Given the description of an element on the screen output the (x, y) to click on. 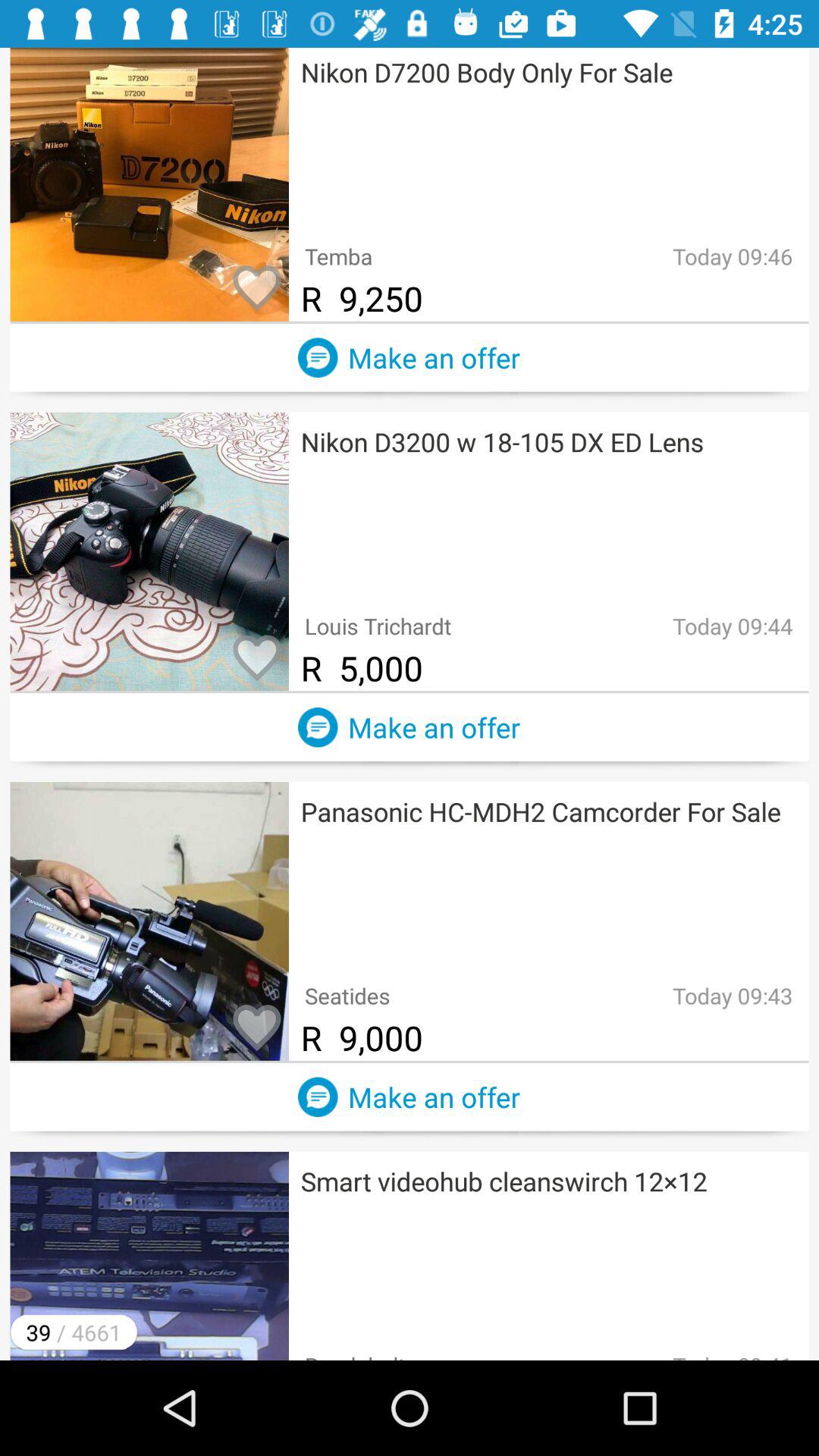
text right to 9000 in third option (719, 1026)
